Given the description of an element on the screen output the (x, y) to click on. 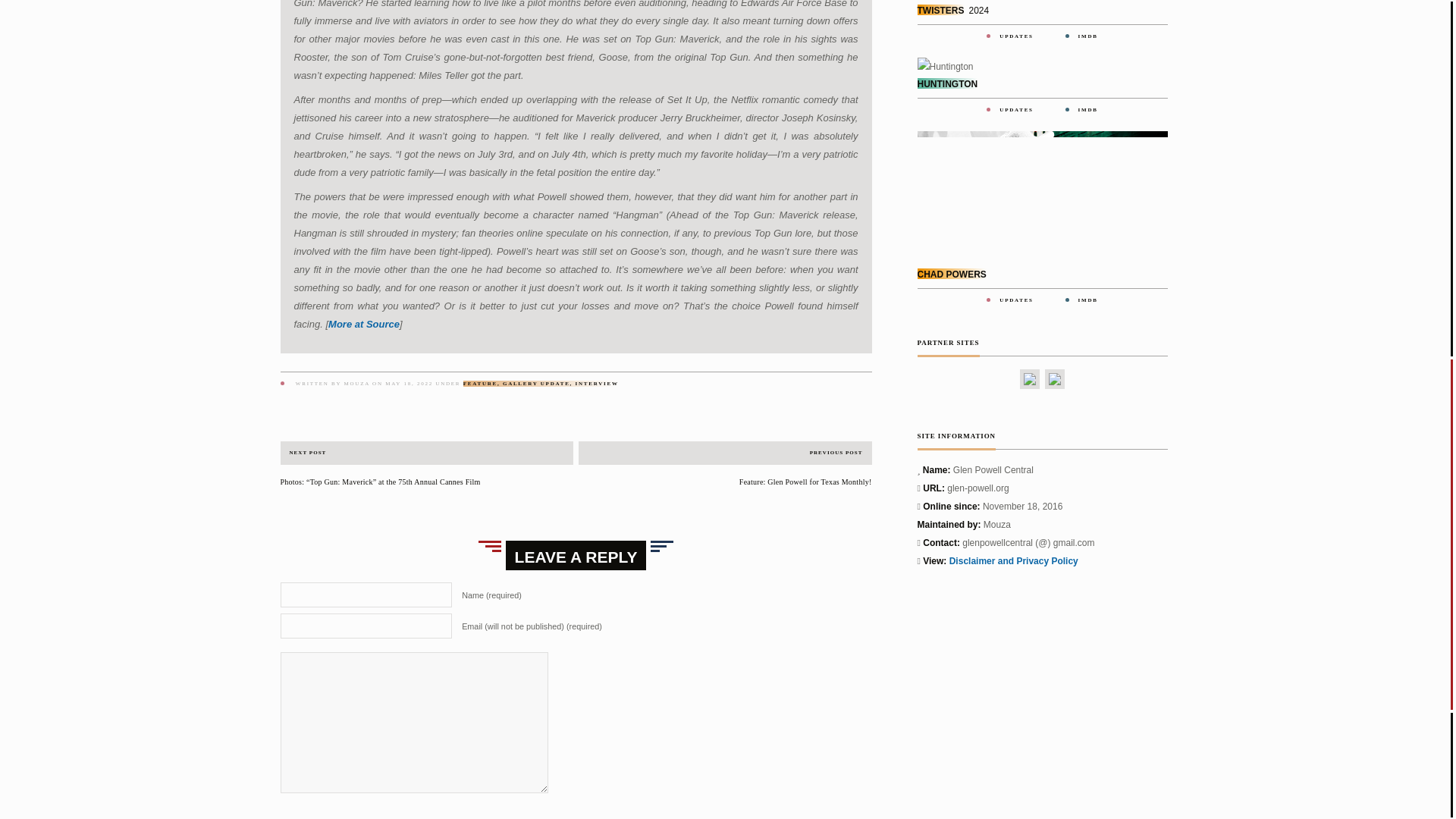
FEATURE (480, 383)
IMDB (1087, 110)
GALLERY UPDATE (536, 383)
IMDb (1087, 110)
UPDATES (1015, 36)
Updates (1015, 300)
IMDB (1087, 36)
IMDb (1087, 300)
More at Source (363, 324)
IMDB (1087, 300)
INTERVIEW (596, 383)
IMDb (1087, 36)
Feature: Glen Powell for Texas Monthly! (725, 482)
Disclaimer and Privacy Policy (1013, 561)
UPDATES (1015, 300)
